Given the description of an element on the screen output the (x, y) to click on. 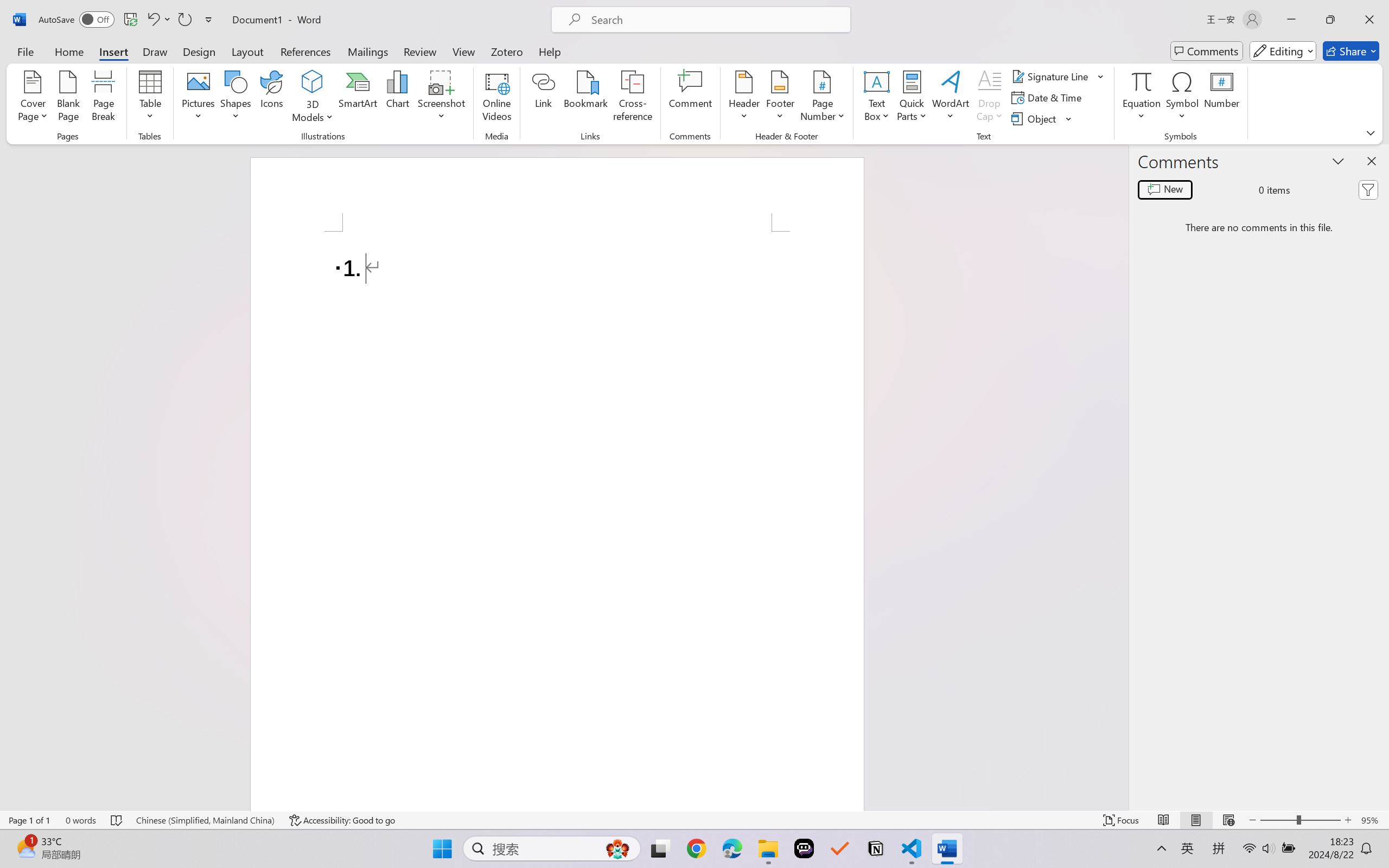
Language Chinese (Simplified, Mainland China) (205, 819)
Signature Line (1051, 75)
Table (149, 97)
Filter (1367, 189)
Equation (1141, 81)
Cover Page (33, 97)
